Given the description of an element on the screen output the (x, y) to click on. 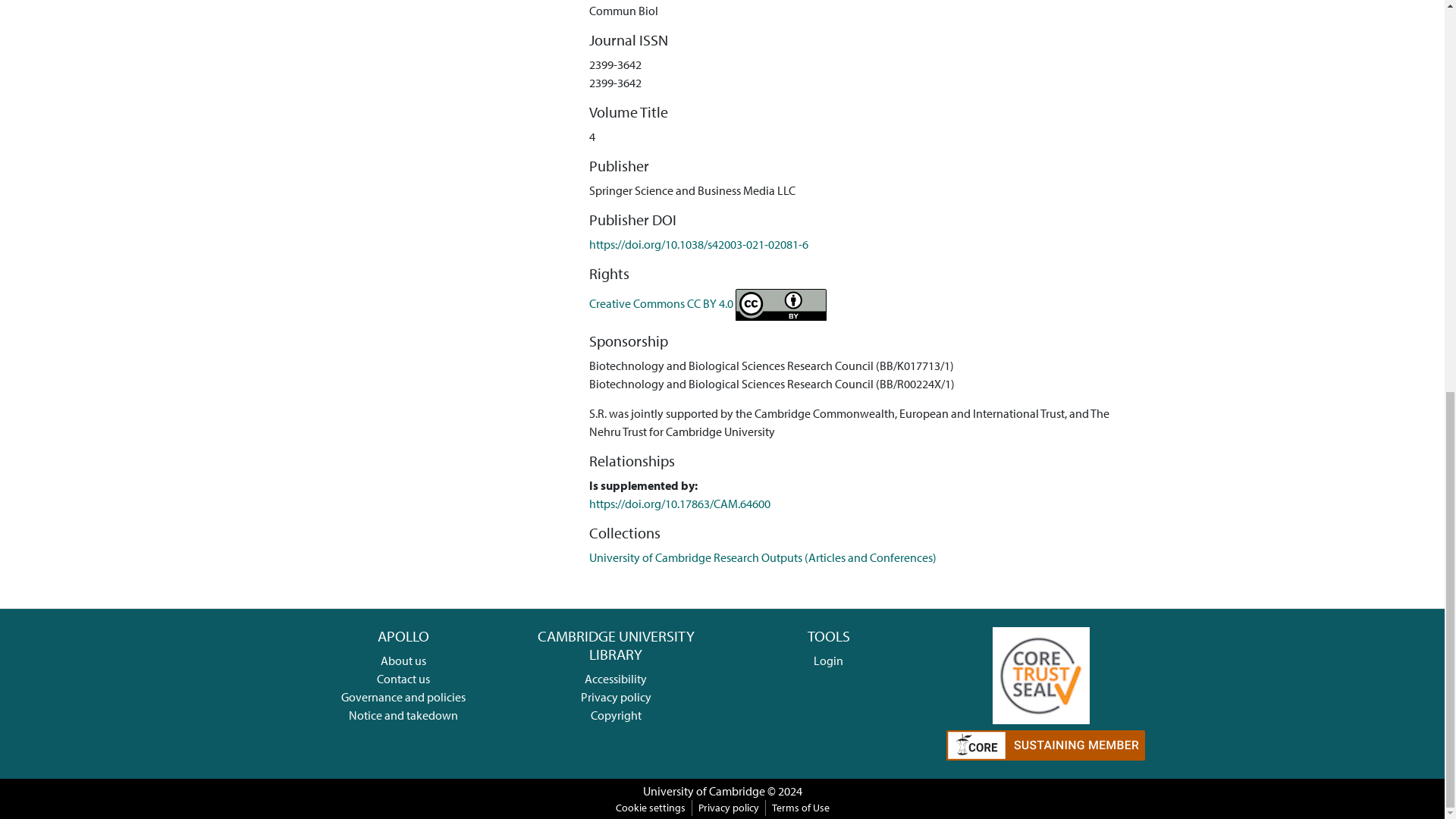
Creative Commons CC BY 4.0 (708, 303)
Contact us (403, 678)
Apollo CTS full application (1040, 673)
About us (403, 660)
